Given the description of an element on the screen output the (x, y) to click on. 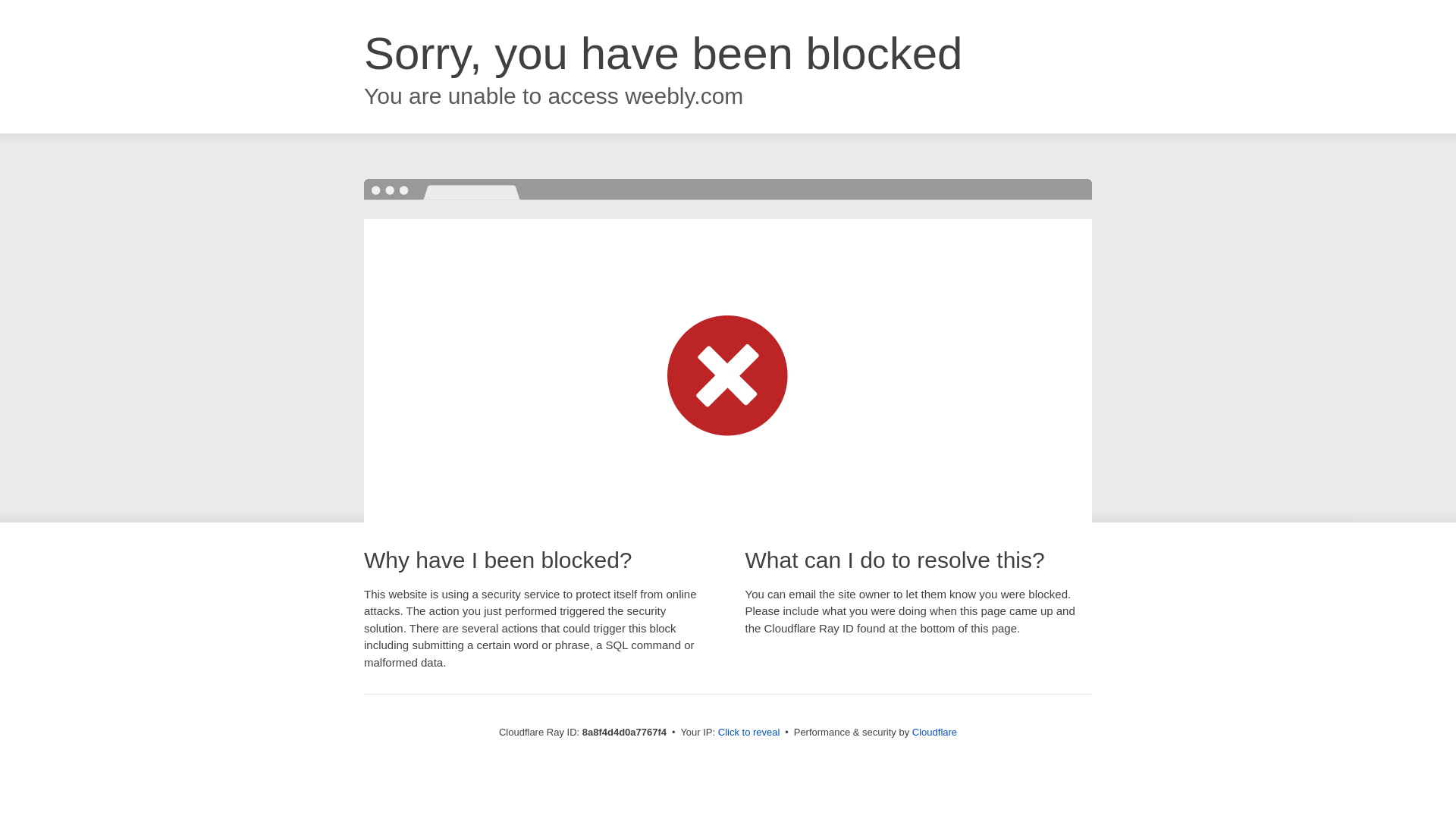
Cloudflare (934, 731)
Click to reveal (748, 732)
